Given the description of an element on the screen output the (x, y) to click on. 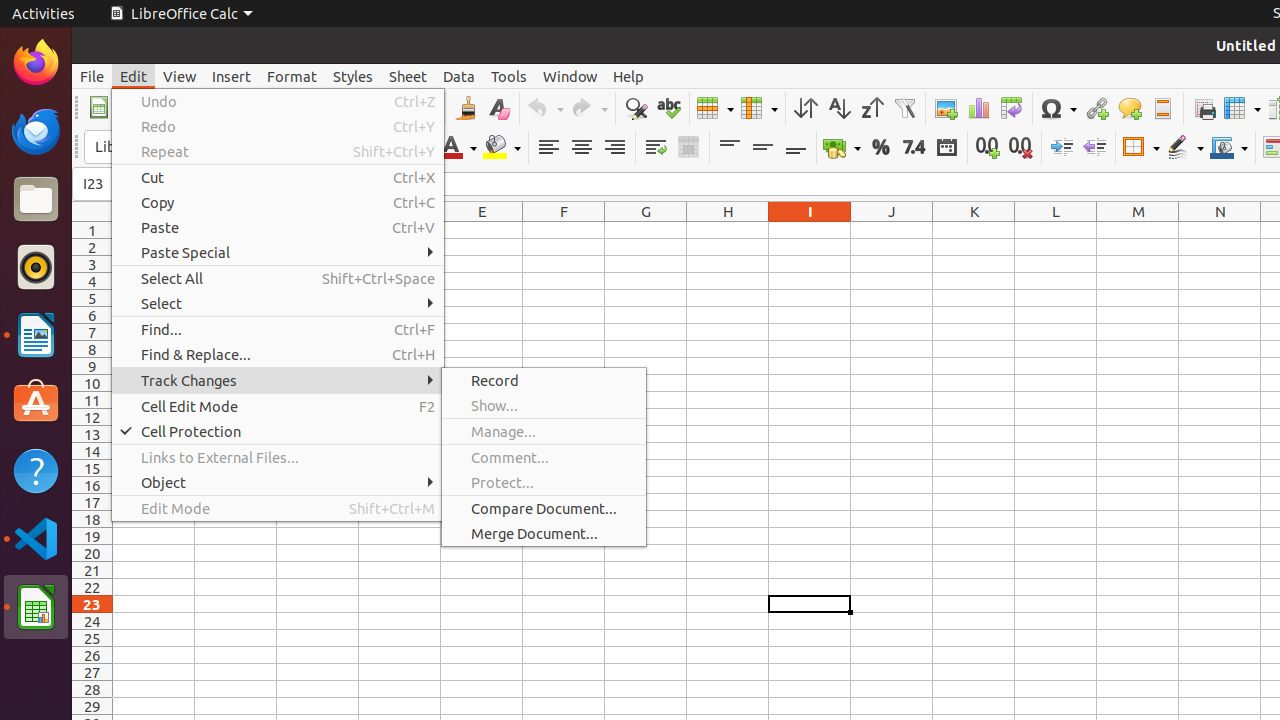
Show... Element type: menu-item (544, 405)
Redo Element type: menu-item (278, 126)
Align Right Element type: push-button (614, 147)
I1 Element type: table-cell (810, 230)
Select Element type: menu (278, 303)
